Given the description of an element on the screen output the (x, y) to click on. 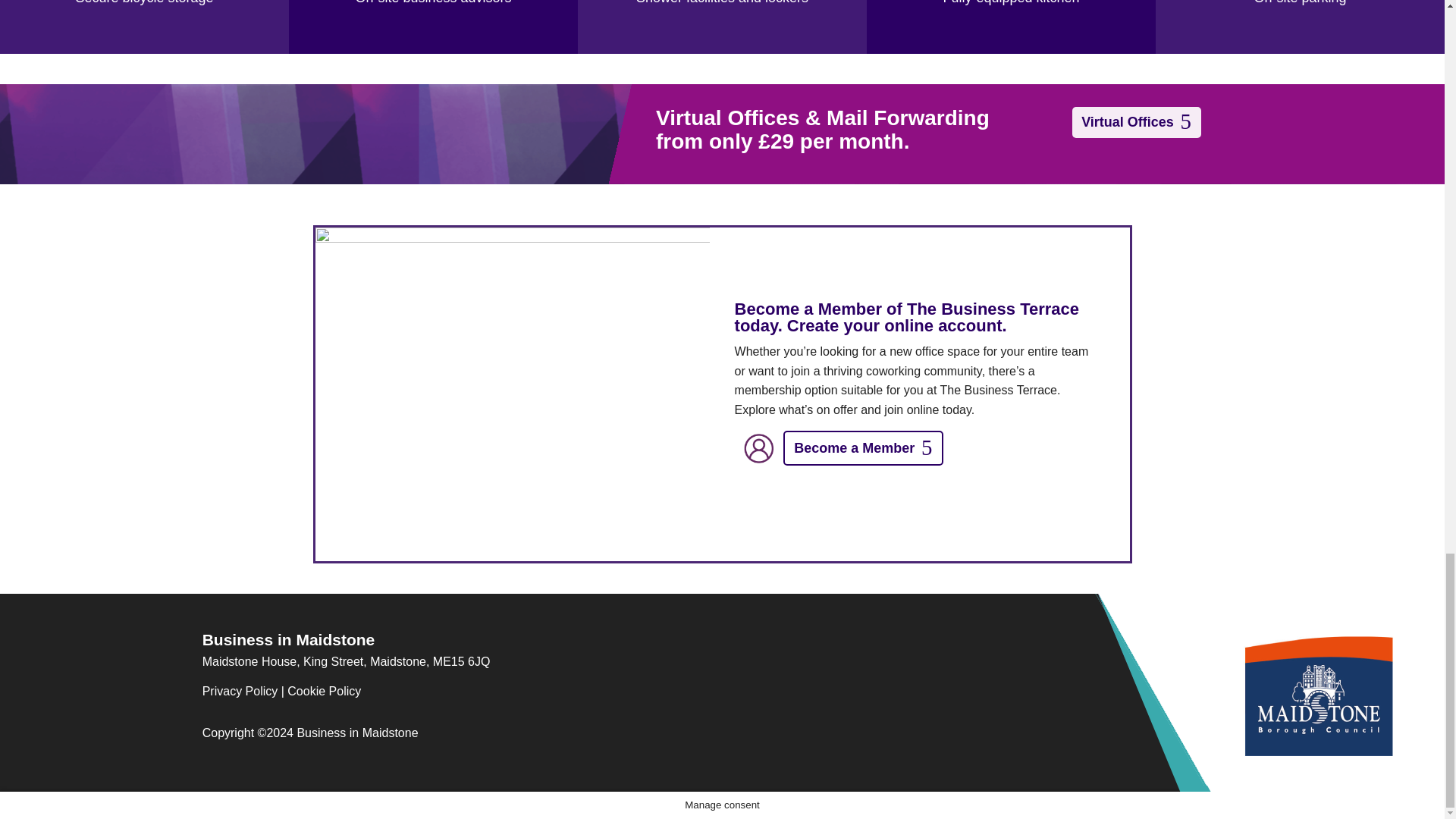
Virtual Offices (1136, 122)
Become a Member (863, 447)
Privacy Policy (240, 690)
tbt-hero-2 (512, 394)
Cookie Policy (323, 690)
icons-member-login (759, 448)
